Given the description of an element on the screen output the (x, y) to click on. 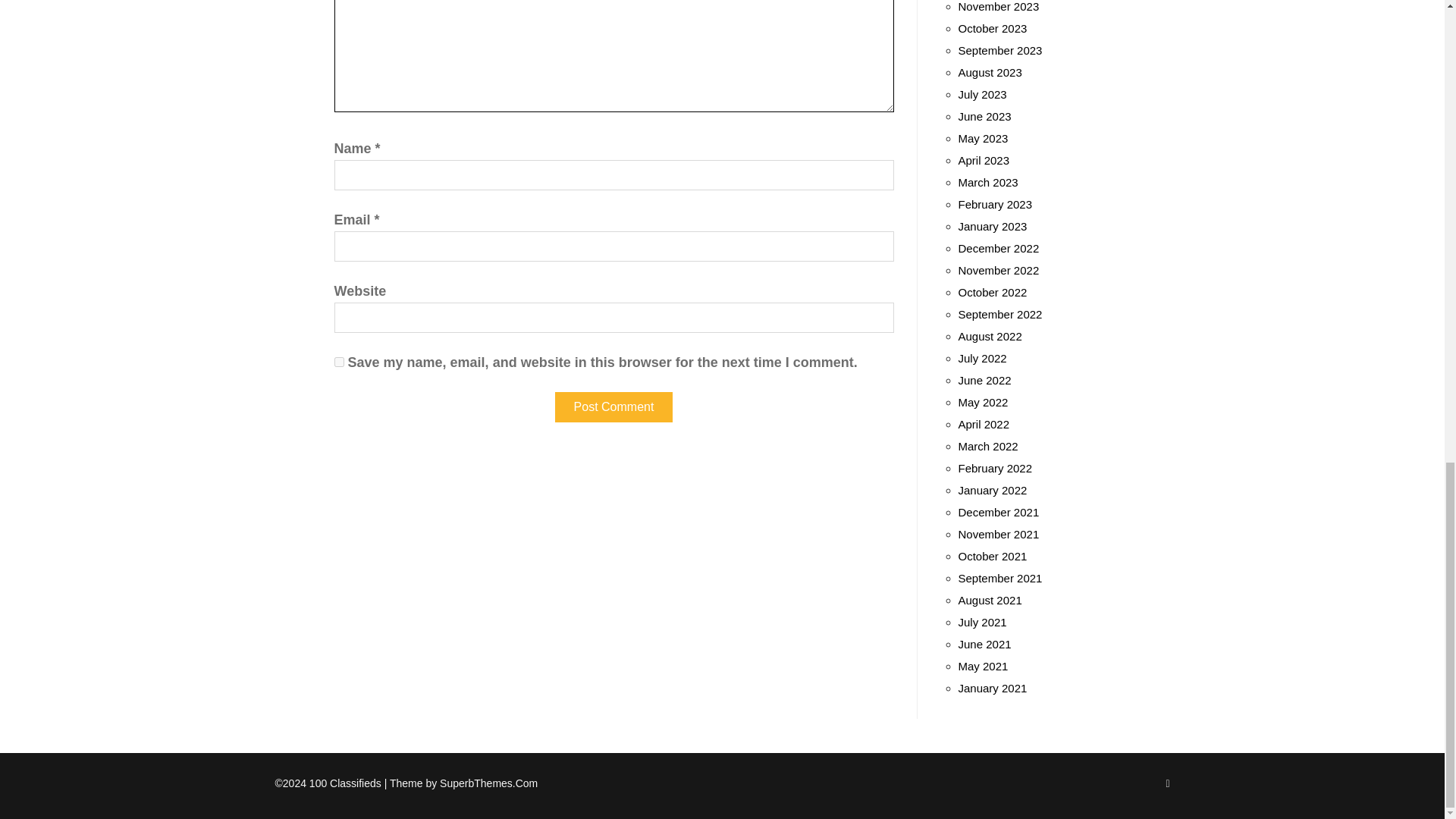
Post Comment (613, 407)
yes (338, 361)
Post Comment (613, 407)
